Given the description of an element on the screen output the (x, y) to click on. 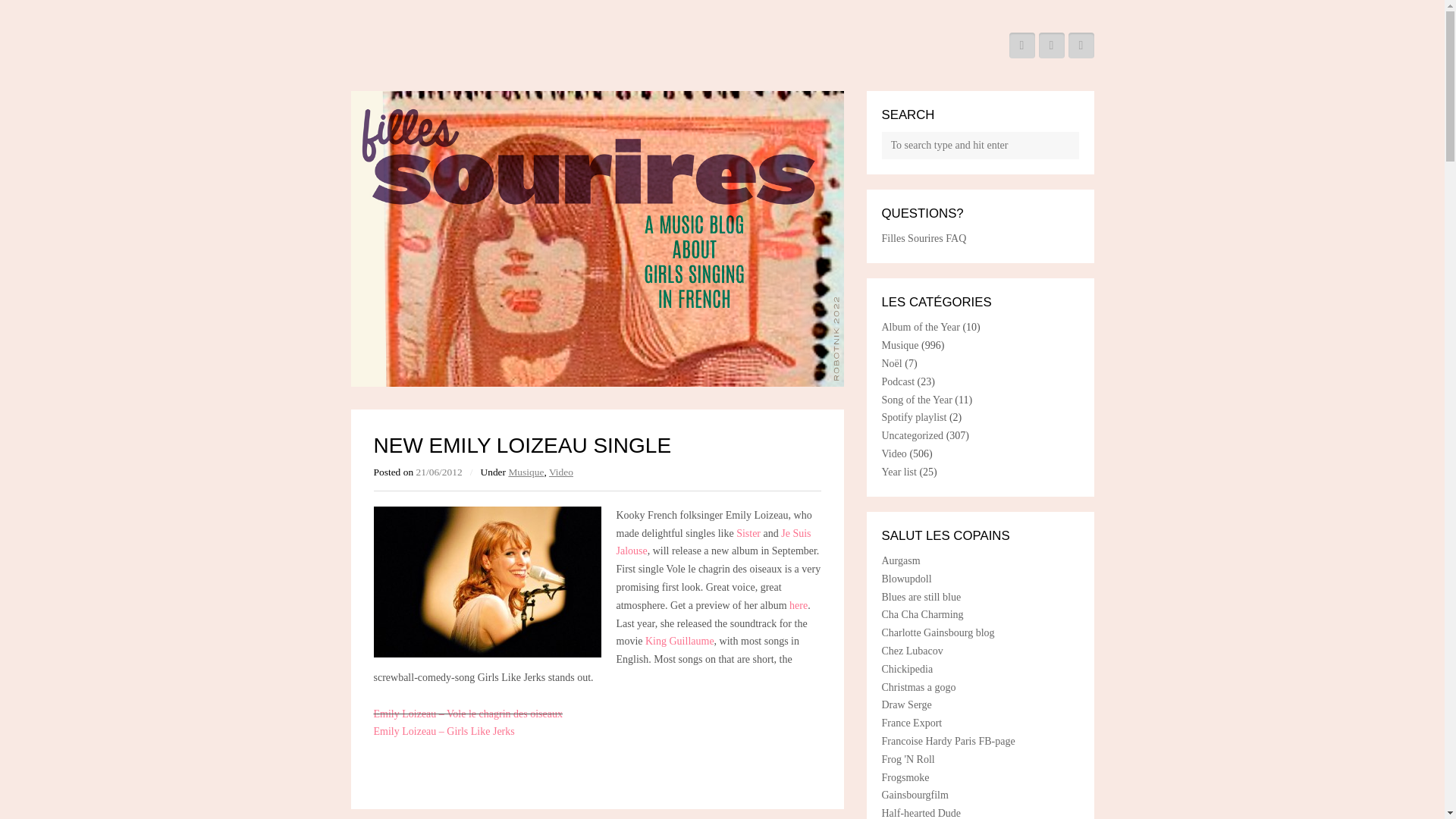
Video (560, 471)
Musique (525, 471)
Frog 'N Roll (907, 758)
Video (892, 453)
Podcast (897, 381)
Filles Sourires FAQ (923, 238)
Blowupdoll (905, 578)
Twitter (1021, 45)
here (798, 604)
Christmas a gogo (917, 686)
Year list (897, 471)
Je Suis Jalouse (712, 542)
Chickipedia (906, 668)
Song of the Year (916, 399)
